Given the description of an element on the screen output the (x, y) to click on. 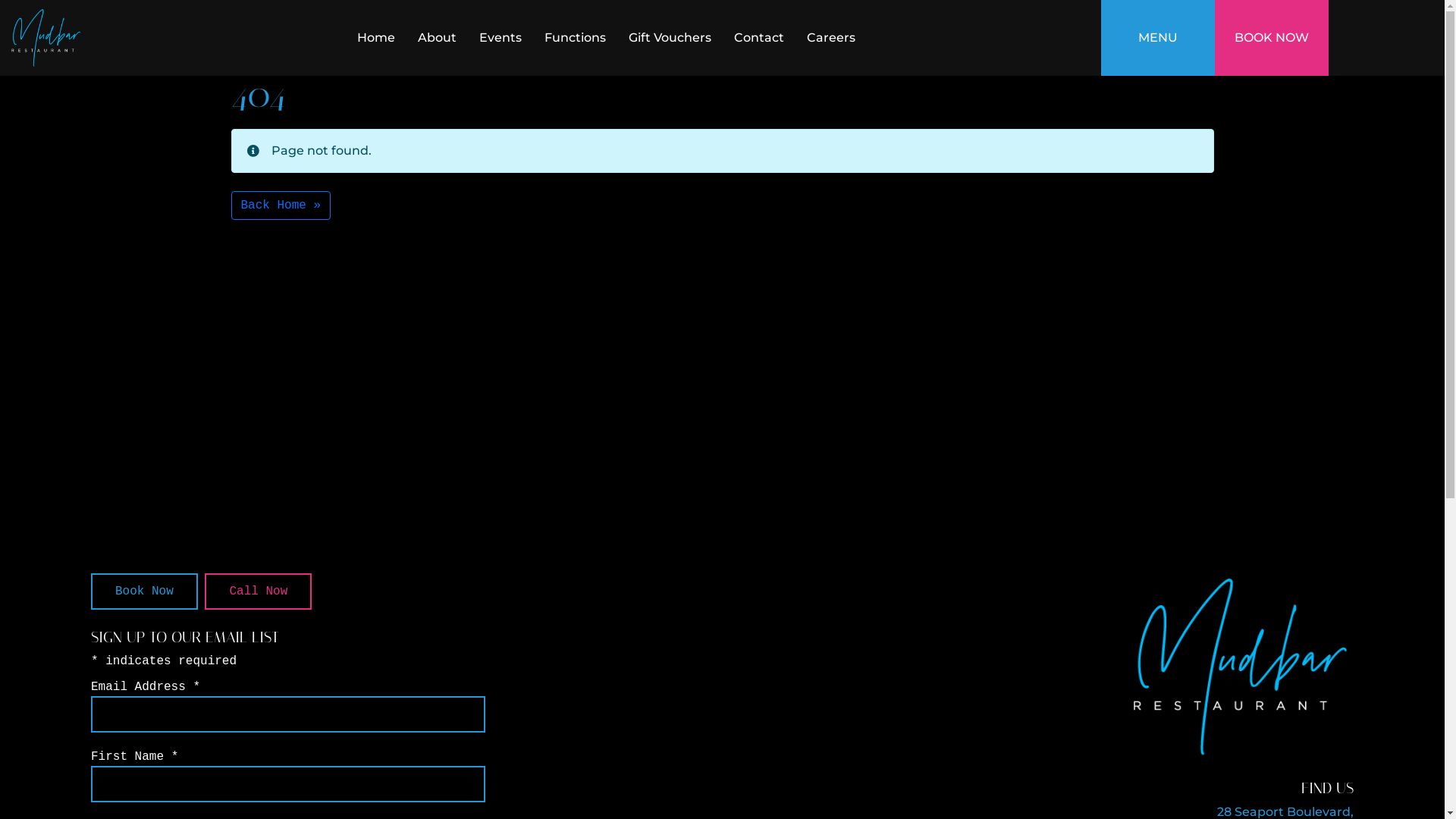
Careers Element type: text (830, 37)
Contact Element type: text (759, 37)
Home Element type: text (376, 37)
MENU Element type: text (1157, 37)
Book Now Element type: text (144, 591)
Events Element type: text (500, 37)
Call Now Element type: text (257, 591)
About Element type: text (436, 37)
Functions Element type: text (574, 37)
Gift Vouchers Element type: text (669, 37)
BOOK NOW Element type: text (1271, 37)
